Given the description of an element on the screen output the (x, y) to click on. 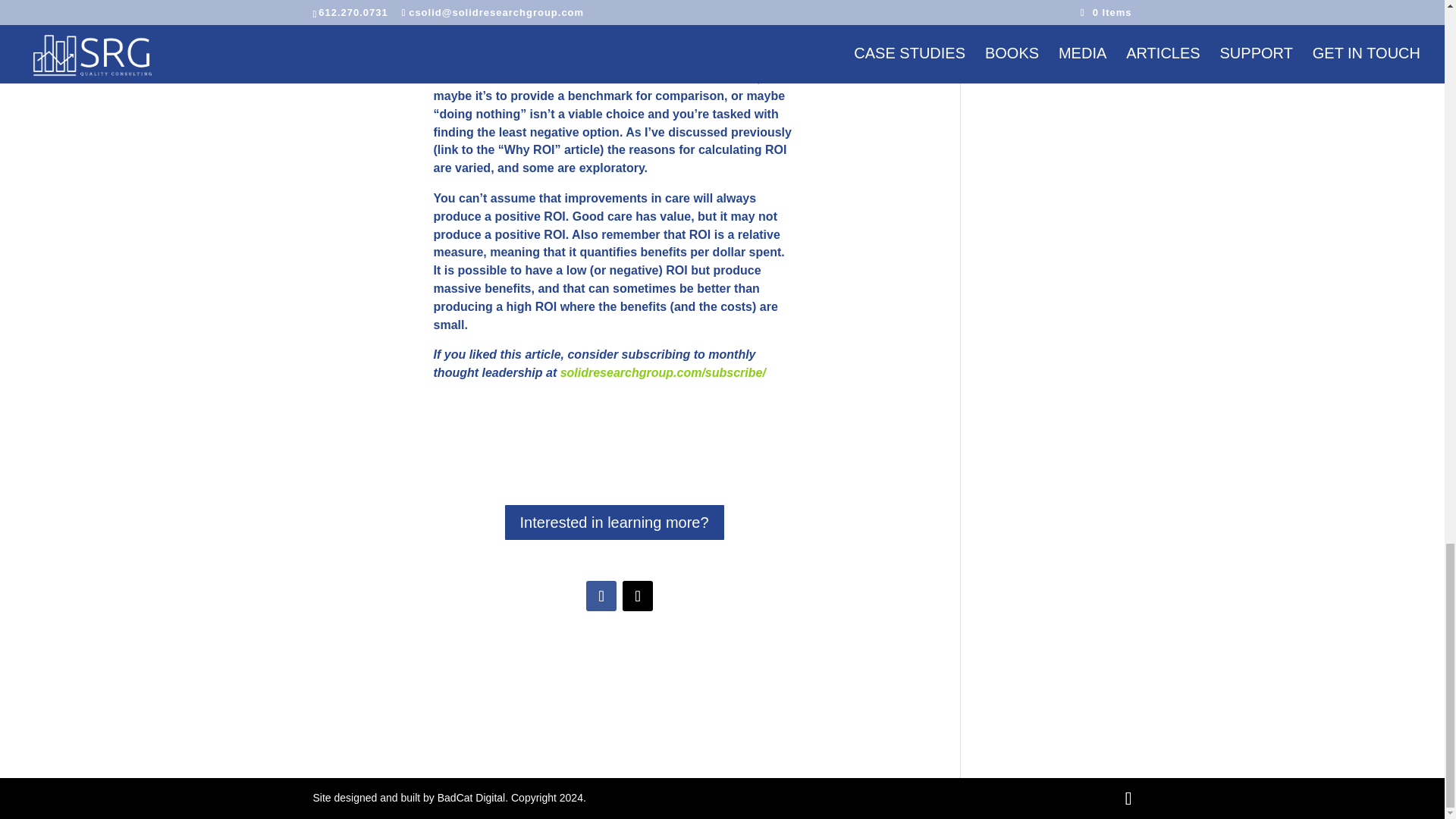
Interested in learning more? (614, 522)
Follow on Facebook (600, 595)
Follow on X (637, 595)
